Given the description of an element on the screen output the (x, y) to click on. 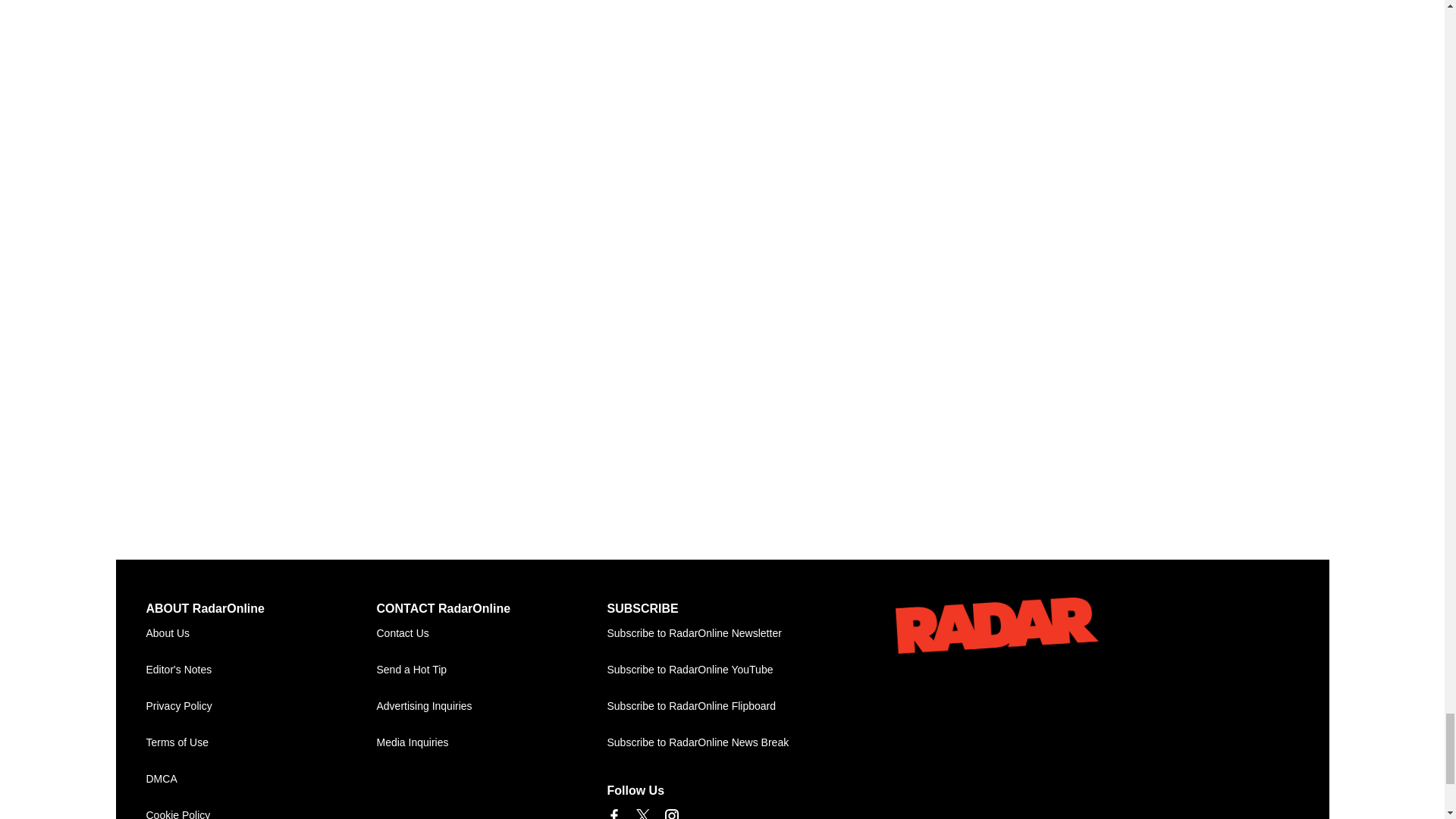
Media Inquiries (491, 742)
Terms of Use (260, 742)
Link to Instagram (670, 814)
Advertising Inquiries (491, 706)
Link to Facebook (613, 814)
DMCA (260, 779)
Subscribe (722, 633)
Editor's Notes (260, 669)
About Us (260, 633)
Link to X (641, 814)
